Given the description of an element on the screen output the (x, y) to click on. 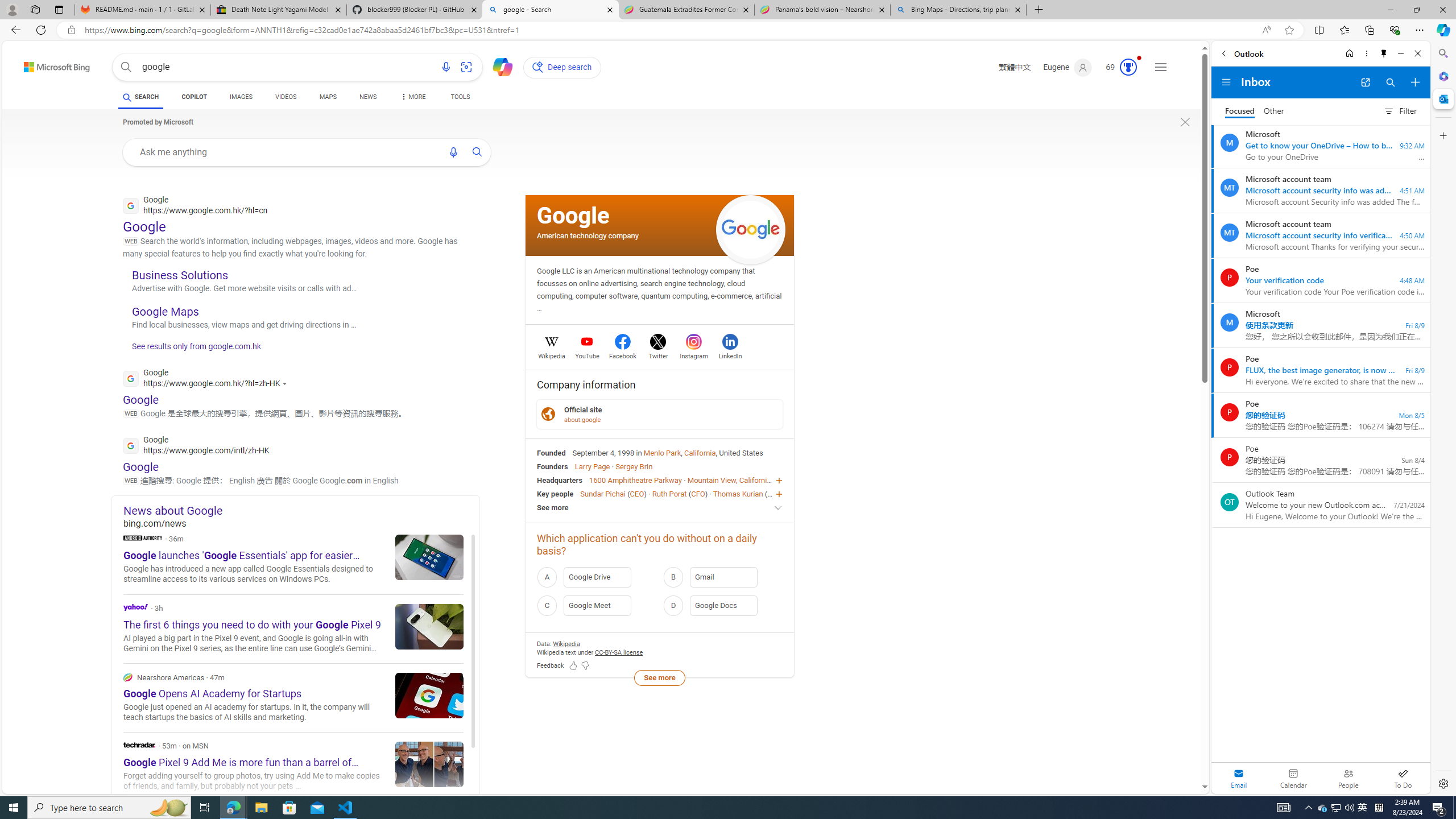
Class: rms_img (1184, 121)
Twitter (658, 354)
AutomationID: serp_medal_svg (1128, 67)
Search using voice (452, 151)
Skip to content (36, 63)
Browser essentials (1394, 29)
Yahoo (293, 628)
Google (573, 215)
Larry Page (592, 465)
Workspaces (34, 9)
Eugene (1067, 67)
